Given the description of an element on the screen output the (x, y) to click on. 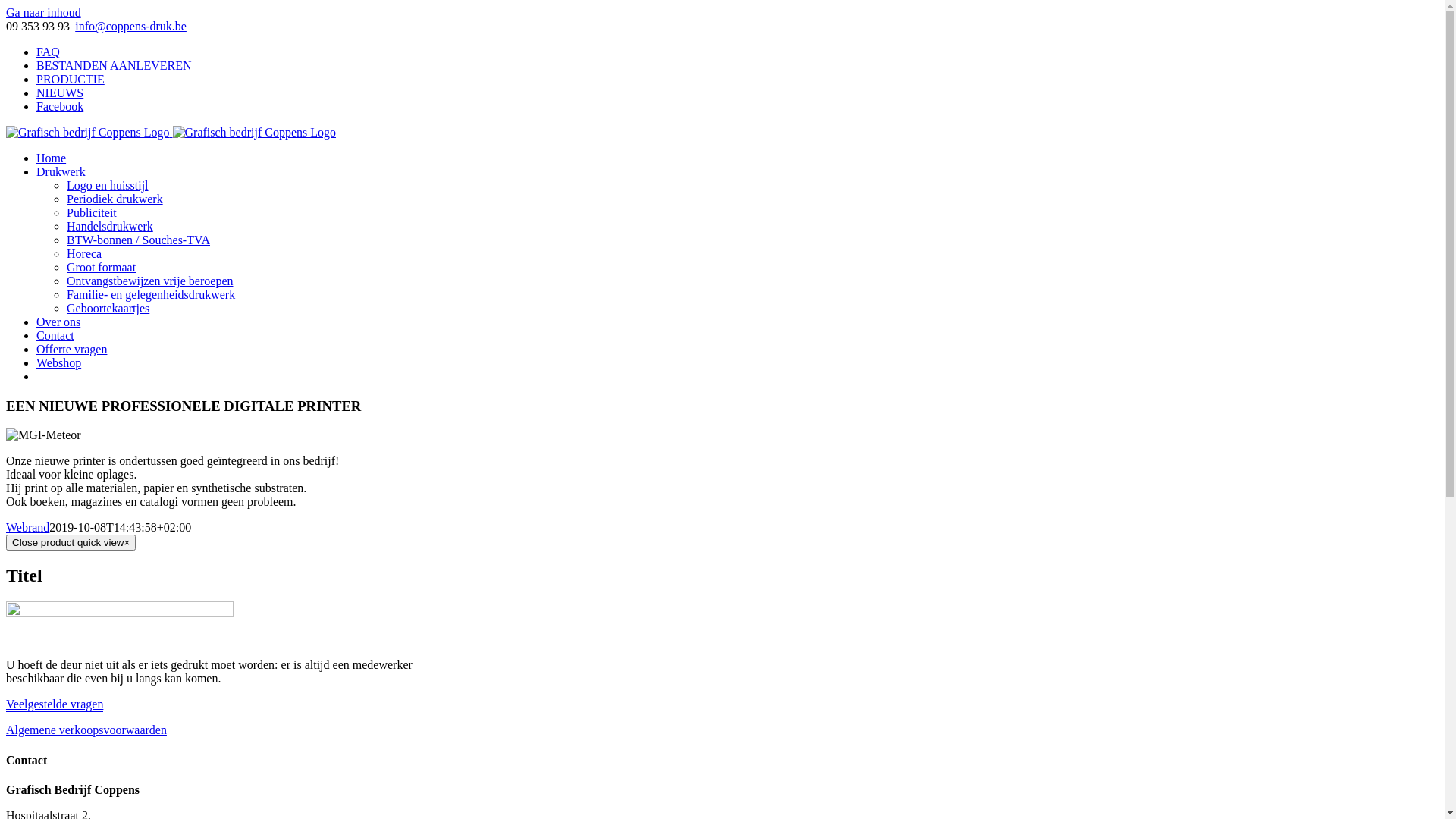
Webrand Element type: text (27, 526)
Veelgestelde vragen Element type: text (54, 704)
Groot formaat Element type: text (100, 266)
Periodiek drukwerk Element type: text (114, 198)
Home Element type: text (50, 157)
Offerte vragen Element type: text (71, 348)
Logo en huisstijl Element type: text (107, 184)
Familie- en gelegenheidsdrukwerk Element type: text (150, 294)
PRODUCTIE Element type: text (70, 78)
Over ons Element type: text (58, 321)
Facebook Element type: text (59, 106)
Algemene verkoopsvoorwaarden Element type: text (86, 729)
Ontvangstbewijzen vrije beroepen Element type: text (149, 280)
BTW-bonnen / Souches-TVA Element type: text (138, 239)
Webshop Element type: text (58, 362)
Geboortekaartjes Element type: text (107, 307)
Handelsdrukwerk Element type: text (109, 225)
Drukwerk Element type: text (60, 171)
FAQ Element type: text (47, 51)
Ga naar inhoud Element type: text (43, 12)
Publiciteit Element type: text (91, 212)
Horeca Element type: text (83, 253)
Contact Element type: text (55, 335)
MGI-Meteor Element type: hover (43, 435)
NIEUWS Element type: text (59, 92)
info@coppens-druk.be Element type: text (130, 25)
BESTANDEN AANLEVEREN Element type: text (113, 65)
